Given the description of an element on the screen output the (x, y) to click on. 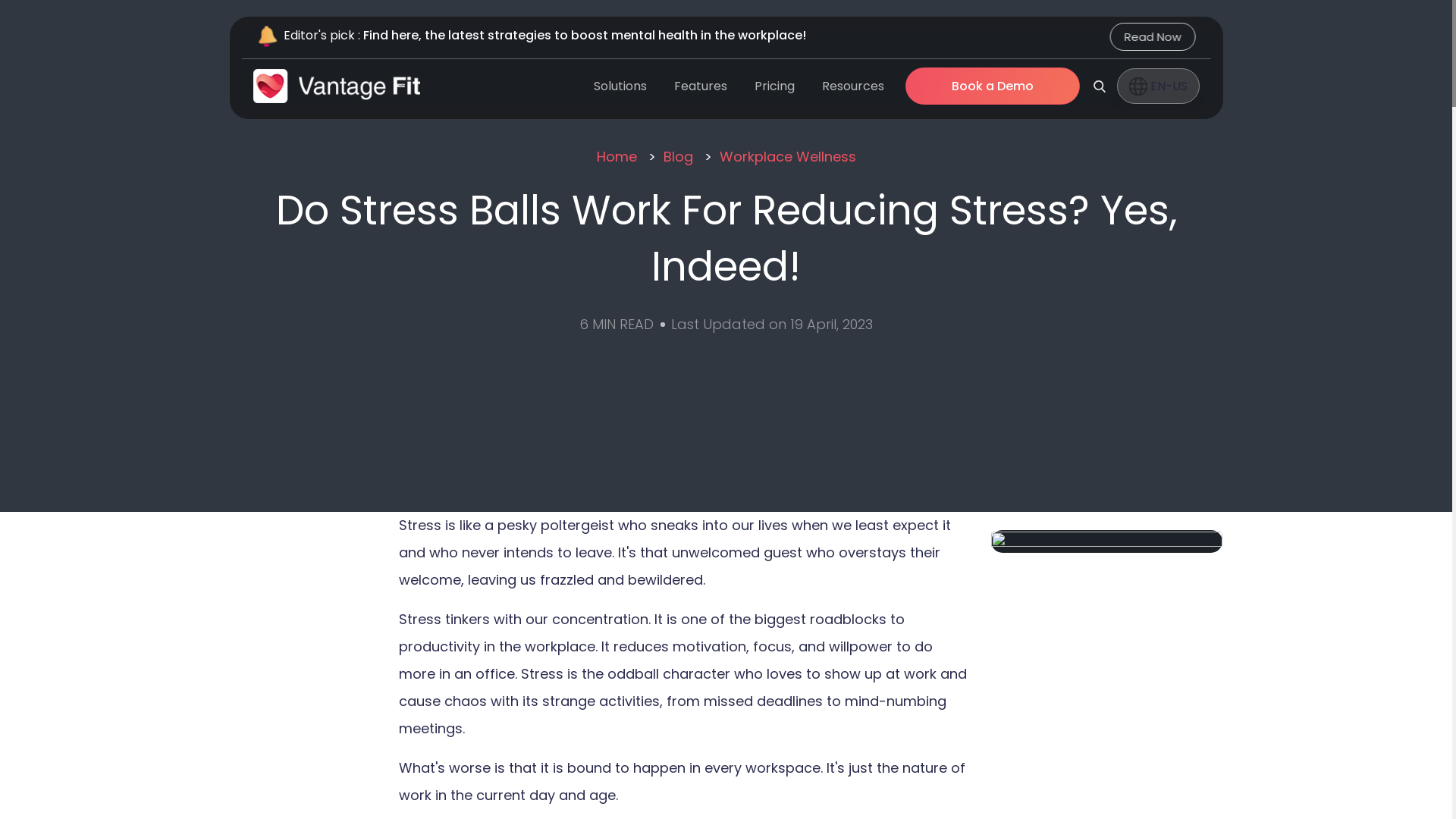
Features (699, 85)
EN-US (1157, 85)
Resources (852, 85)
Pricing (773, 85)
Book a Demo (992, 85)
Solutions (619, 85)
Read Now (1152, 35)
